Given the description of an element on the screen output the (x, y) to click on. 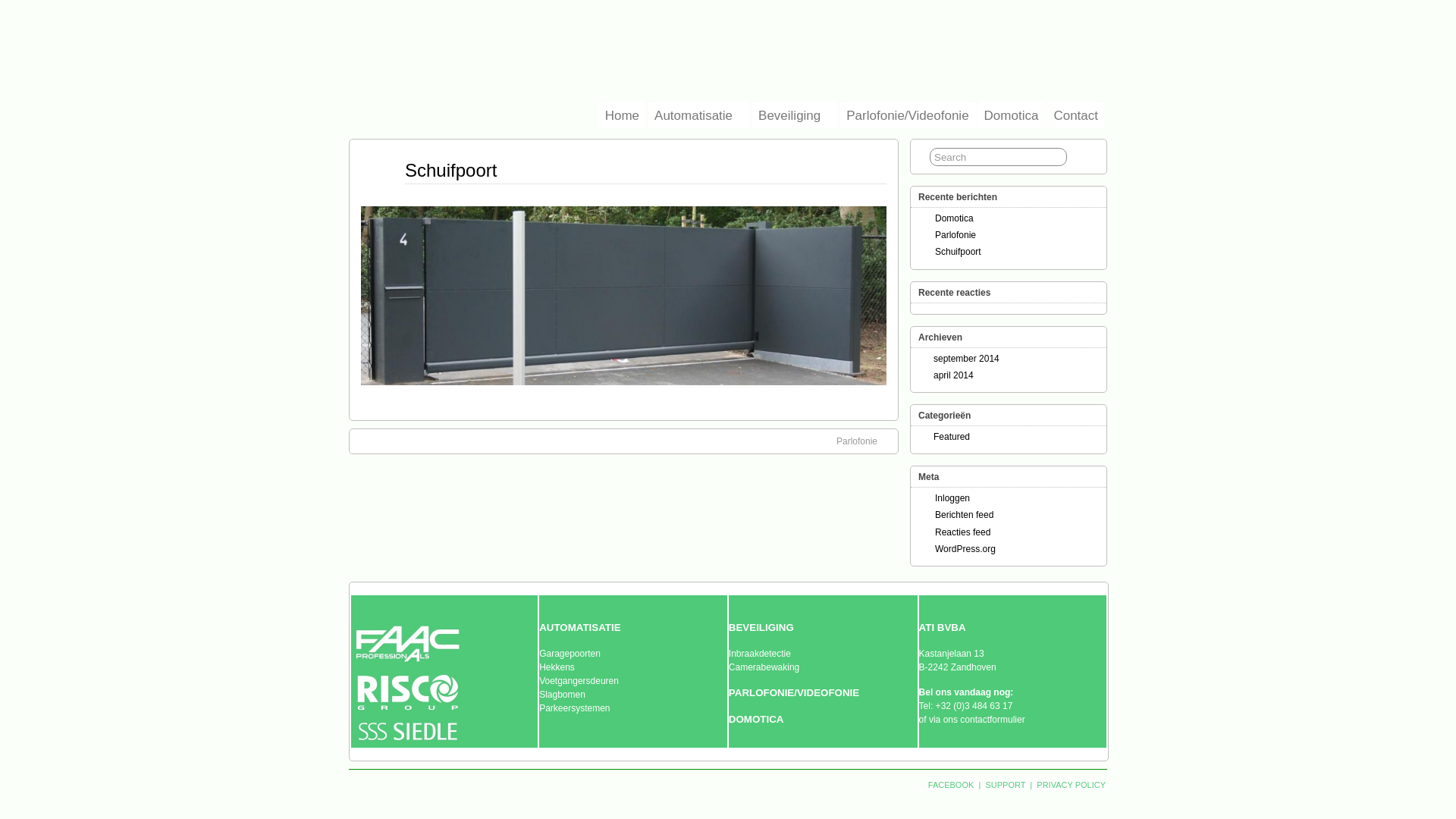
Reacties feed Element type: text (962, 531)
Contact Element type: text (1075, 114)
 PRIVACY POLICY Element type: text (1069, 784)
Inloggen Element type: text (952, 497)
Parlofonie/Videofonie Element type: text (907, 114)
Parlofonie Element type: text (955, 234)
september 2014 Element type: text (966, 358)
Home Element type: text (622, 114)
 SUPPORT Element type: text (1004, 784)
 FACEBOOK Element type: text (950, 784)
VIDEOFONIE Element type: text (828, 692)
Hekkens Element type: text (556, 667)
Berichten feed Element type: text (964, 514)
Parkeersystemen Element type: text (574, 707)
Domotica Element type: text (954, 218)
Domotica Element type: text (1011, 114)
BEVEILIGING Element type: text (760, 627)
april 2014 Element type: text (953, 375)
 Automatisatie Element type: text (698, 114)
 | Element type: text (978, 784)
AUTOMATISATIE Element type: text (579, 627)
Inbraakdetectie Element type: text (759, 653)
Voetgangersdeuren Element type: text (578, 680)
Schuifpoort Element type: text (450, 170)
Schuifpoort Element type: text (958, 251)
  Parlofonie Element type: text (864, 441)
Slagbomen Element type: text (562, 694)
Camerabewaking Element type: text (763, 667)
Featured Element type: text (951, 436)
Garagepoorten Element type: text (569, 653)
PARLOFONIE/ Element type: text (762, 692)
contactformulier Element type: text (992, 719)
DOMOTICA Element type: text (756, 719)
 Beveiliging Element type: text (794, 114)
WordPress.org Element type: text (965, 548)
